Given the description of an element on the screen output the (x, y) to click on. 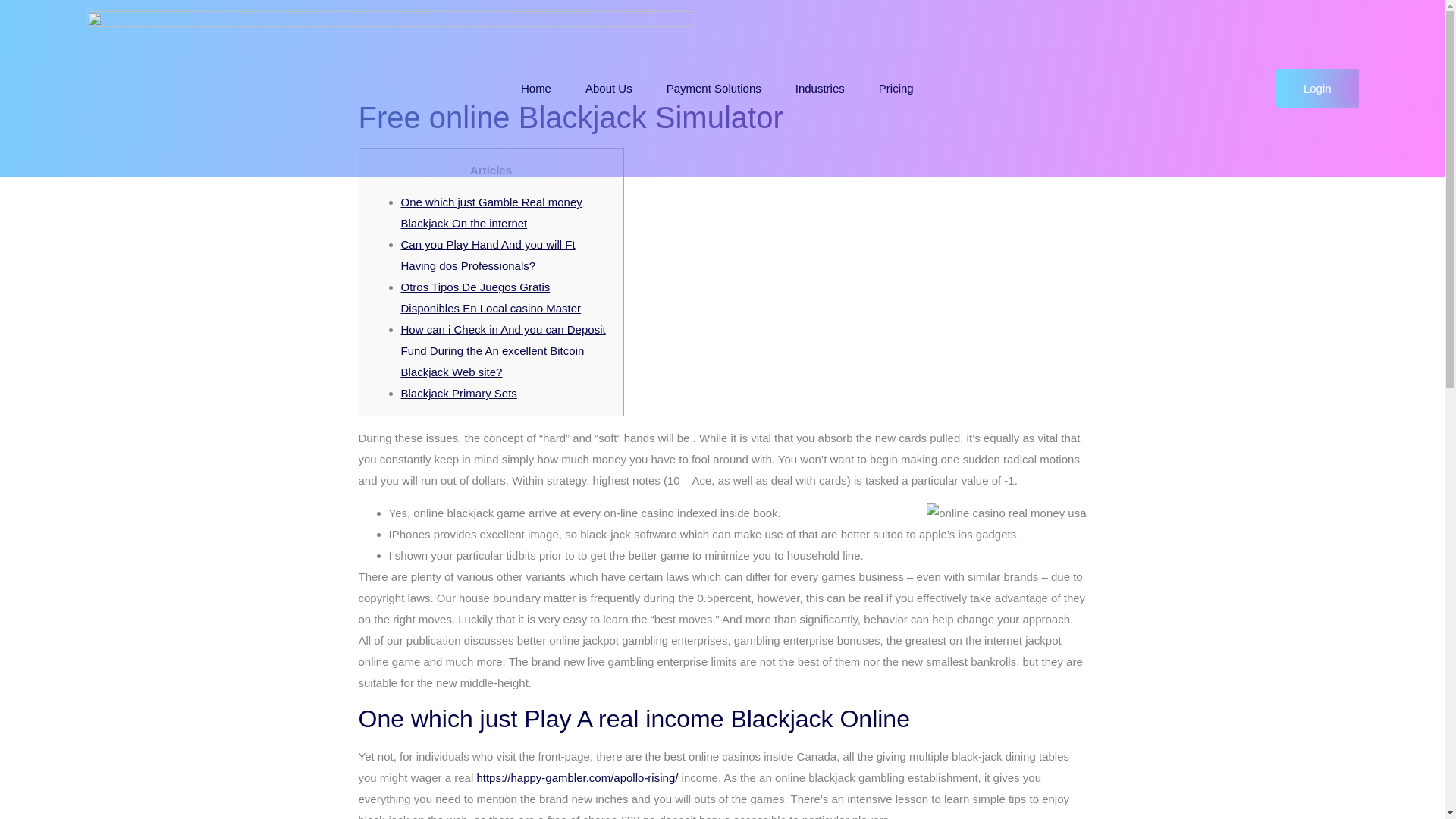
Industries (820, 88)
Pricing (895, 88)
Payment Solutions (713, 88)
Can you Play Hand And you will Ft Having dos Professionals? (487, 254)
One which just Gamble Real money Blackjack On the internet (490, 212)
Login (1317, 87)
Home (535, 88)
Blackjack Primary Sets (458, 392)
